Given the description of an element on the screen output the (x, y) to click on. 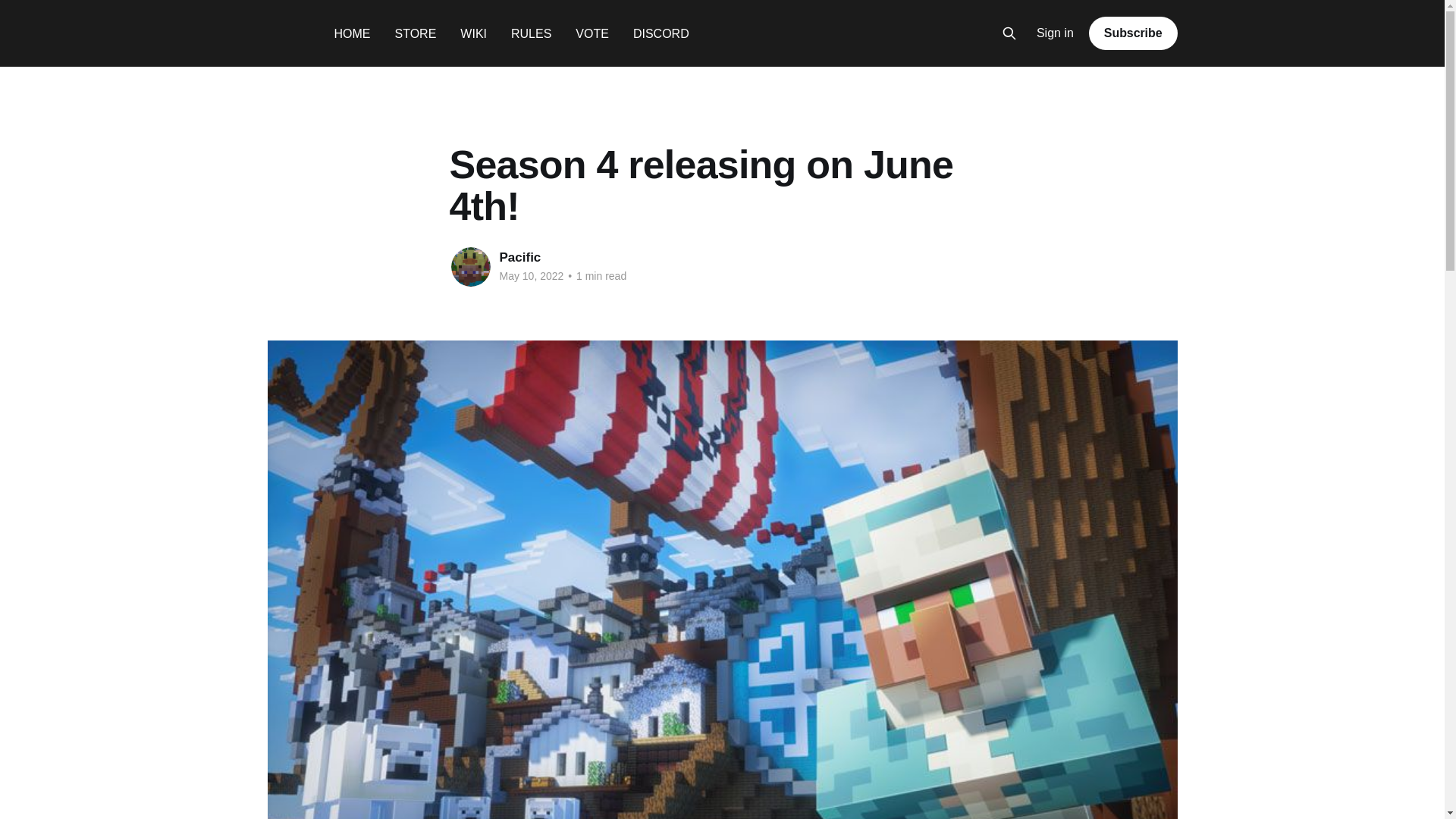
Pacific (519, 257)
STORE (414, 33)
RULES (531, 33)
VOTE (591, 33)
WIKI (473, 33)
Sign in (1055, 33)
HOME (351, 33)
DISCORD (660, 33)
Subscribe (1133, 32)
